Given the description of an element on the screen output the (x, y) to click on. 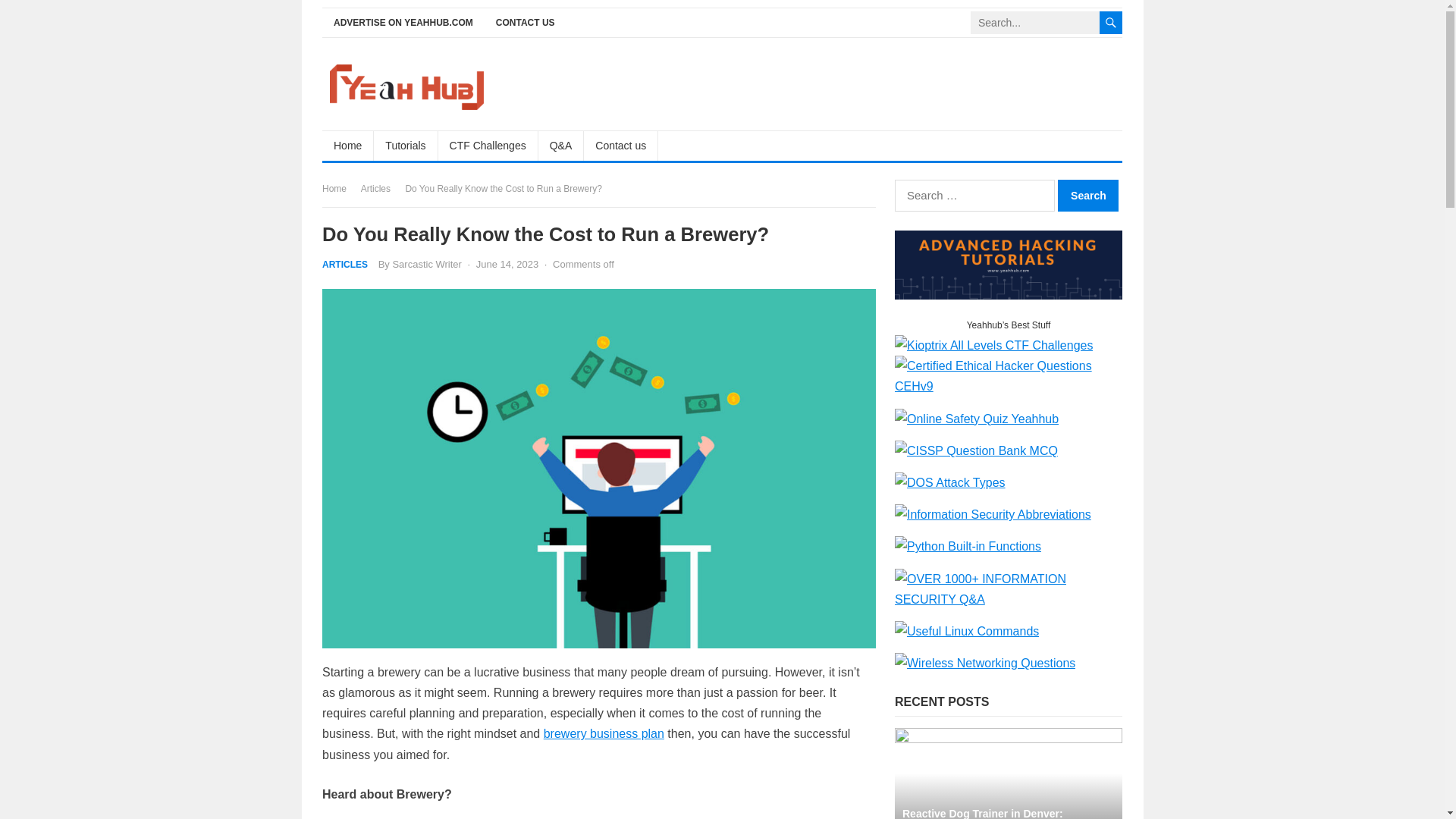
CONTACT US (525, 22)
Contact us (620, 145)
Advanced Hacking Tutorials By yeahhub (1008, 295)
Home (347, 145)
ADVERTISE ON YEAHHUB.COM (402, 22)
Search (1088, 195)
Posts by Sarcastic Writer (426, 264)
Search (1088, 195)
Tutorials (406, 145)
CTF Challenges (488, 145)
